Given the description of an element on the screen output the (x, y) to click on. 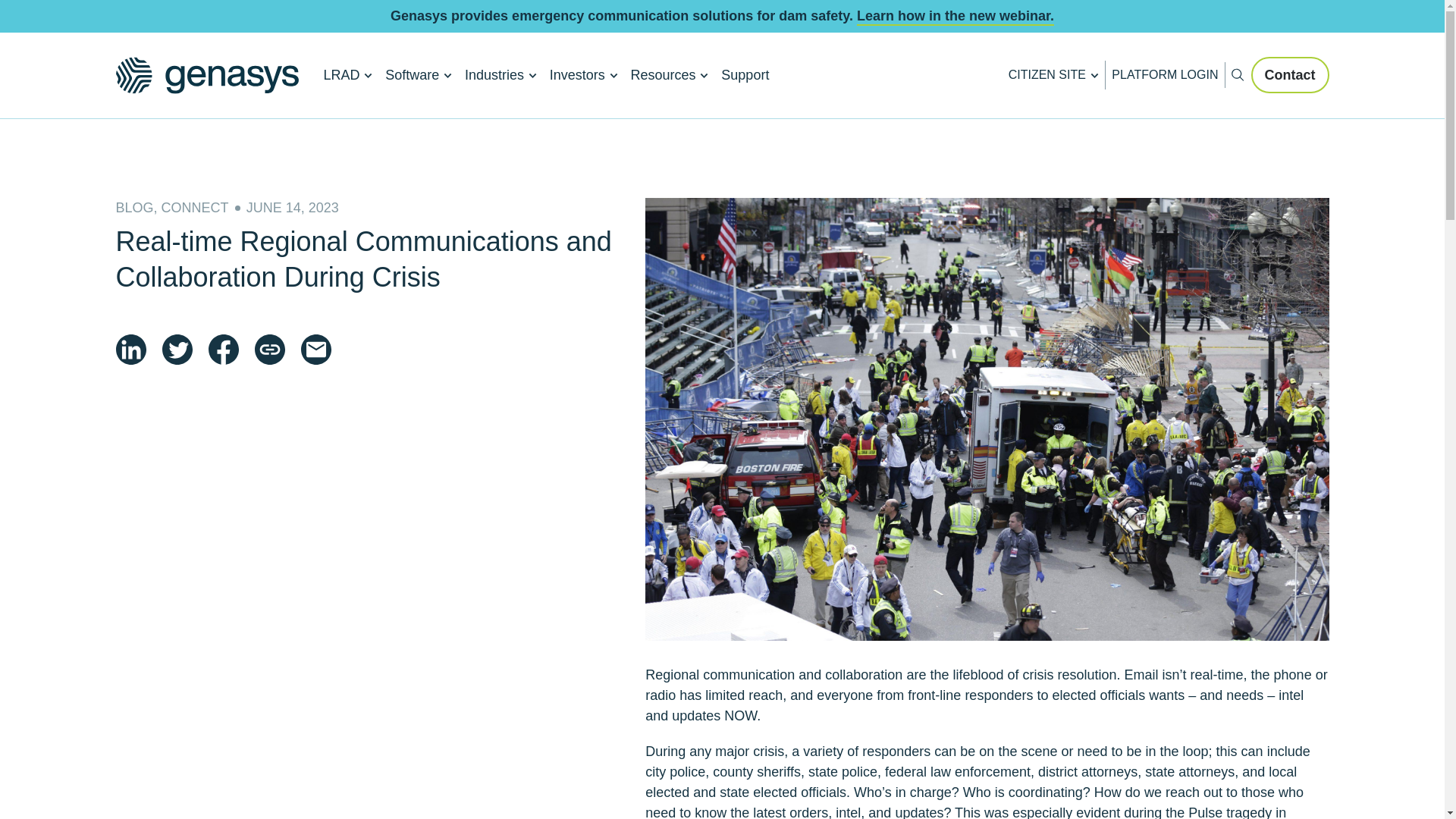
Learn how in the new webinar. (955, 15)
Contact Support (447, 127)
Request an LRAD Quote (205, 127)
LRAD Partner Inquiry (679, 126)
Software (336, 127)
Blog (418, 75)
LRAD (679, 119)
Learn More about LRAD (347, 75)
